Given the description of an element on the screen output the (x, y) to click on. 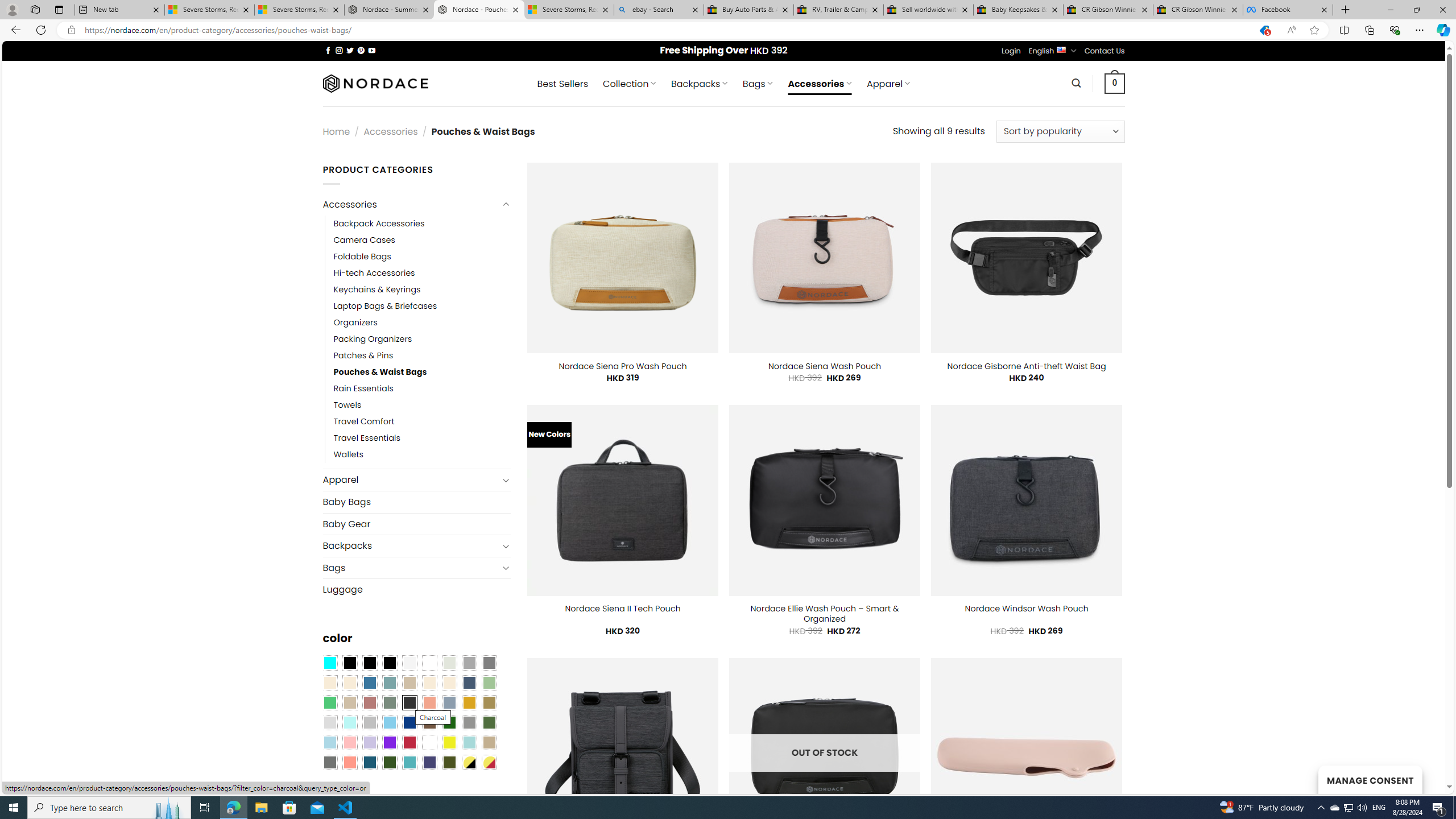
Beige (329, 681)
Brown (429, 721)
Travel Essentials (422, 438)
Laptop Bags & Briefcases (422, 305)
Bags (410, 567)
